Given the description of an element on the screen output the (x, y) to click on. 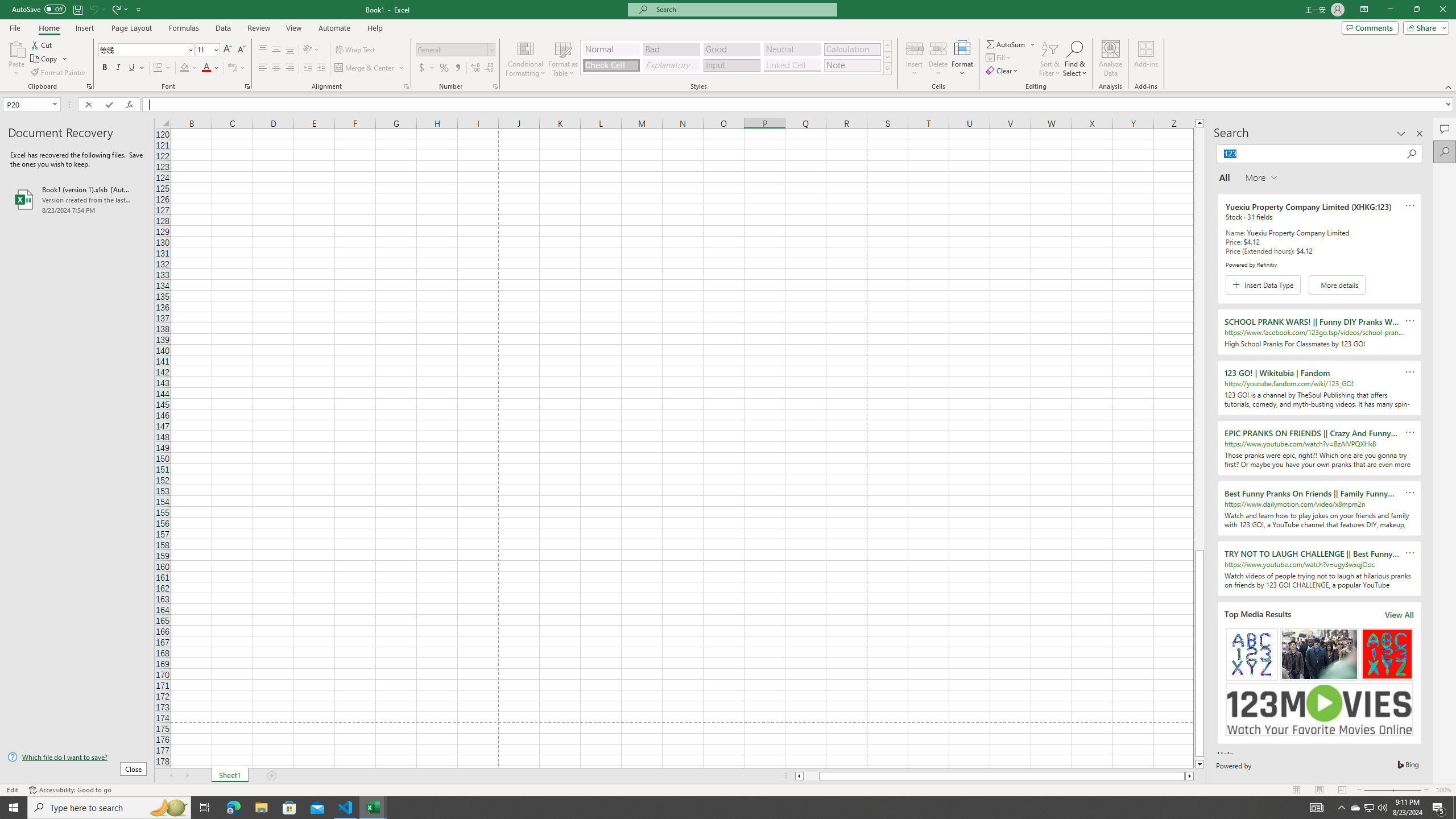
Fill (999, 56)
Bottom Align (290, 49)
Format as Table (563, 58)
Bold (104, 67)
Underline (136, 67)
Bottom Border (157, 67)
Top Align (262, 49)
Font Size (207, 49)
